Given the description of an element on the screen output the (x, y) to click on. 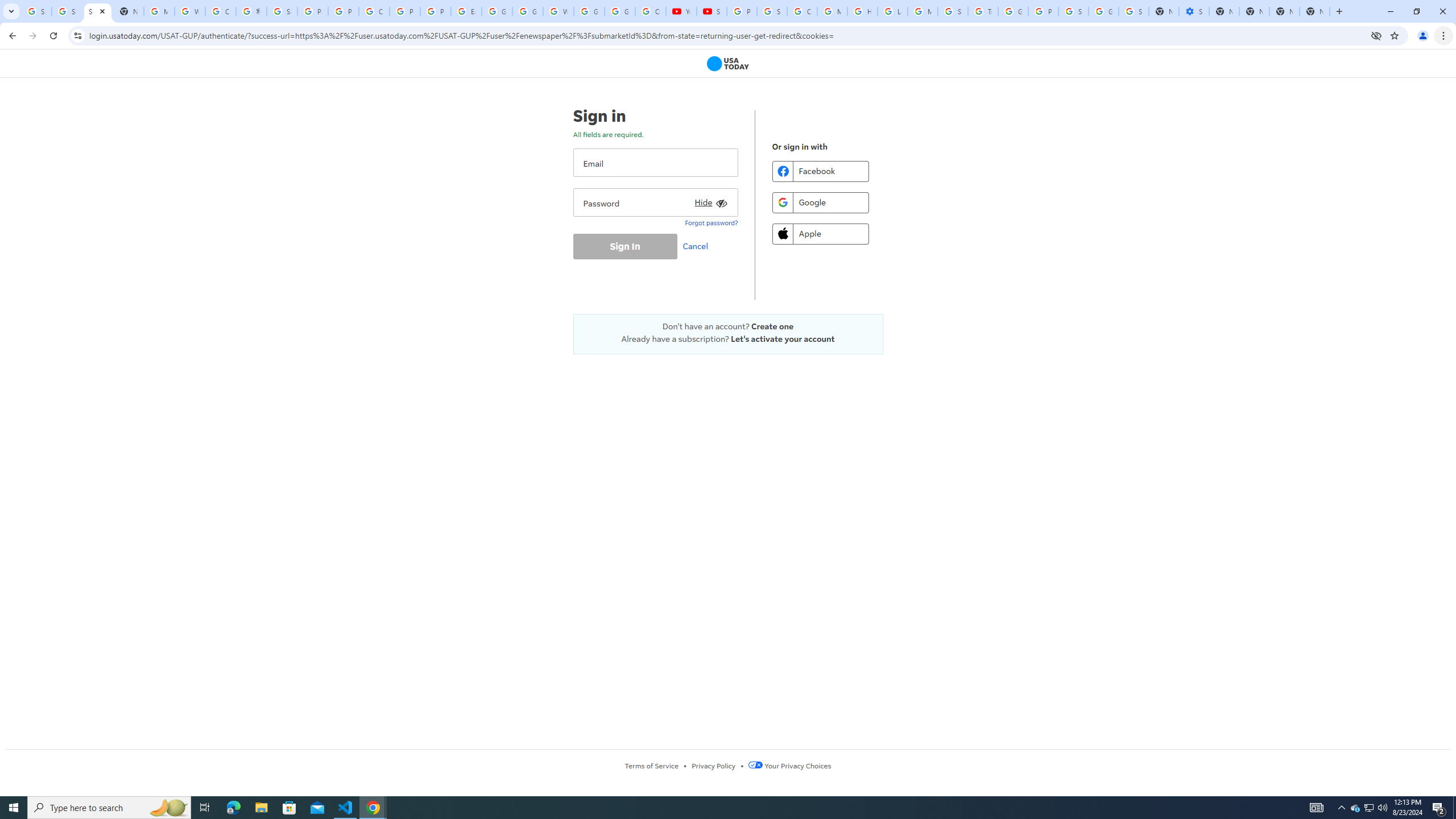
Create your Google Account (373, 11)
Trusted Information and Content - Google Safety Center (982, 11)
Sign in - Google Accounts (282, 11)
Sign in - Google Accounts (1072, 11)
Sign In - USA TODAY (97, 11)
Sign In (624, 246)
